Given the description of an element on the screen output the (x, y) to click on. 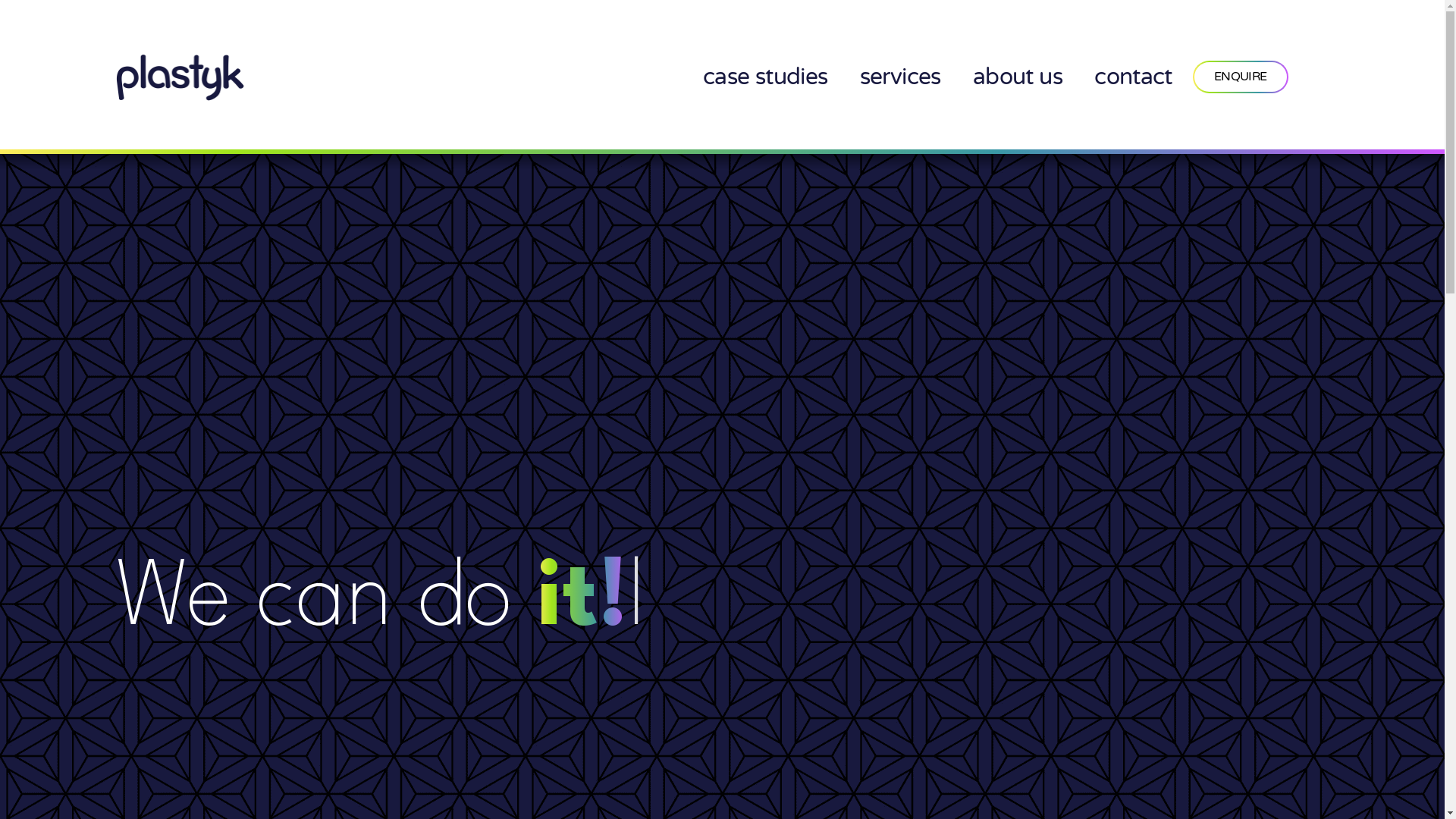
contact Element type: text (1133, 77)
case studies Element type: text (765, 77)
about us Element type: text (1017, 77)
ENQUIRE Element type: text (1240, 76)
services Element type: text (900, 77)
